Given the description of an element on the screen output the (x, y) to click on. 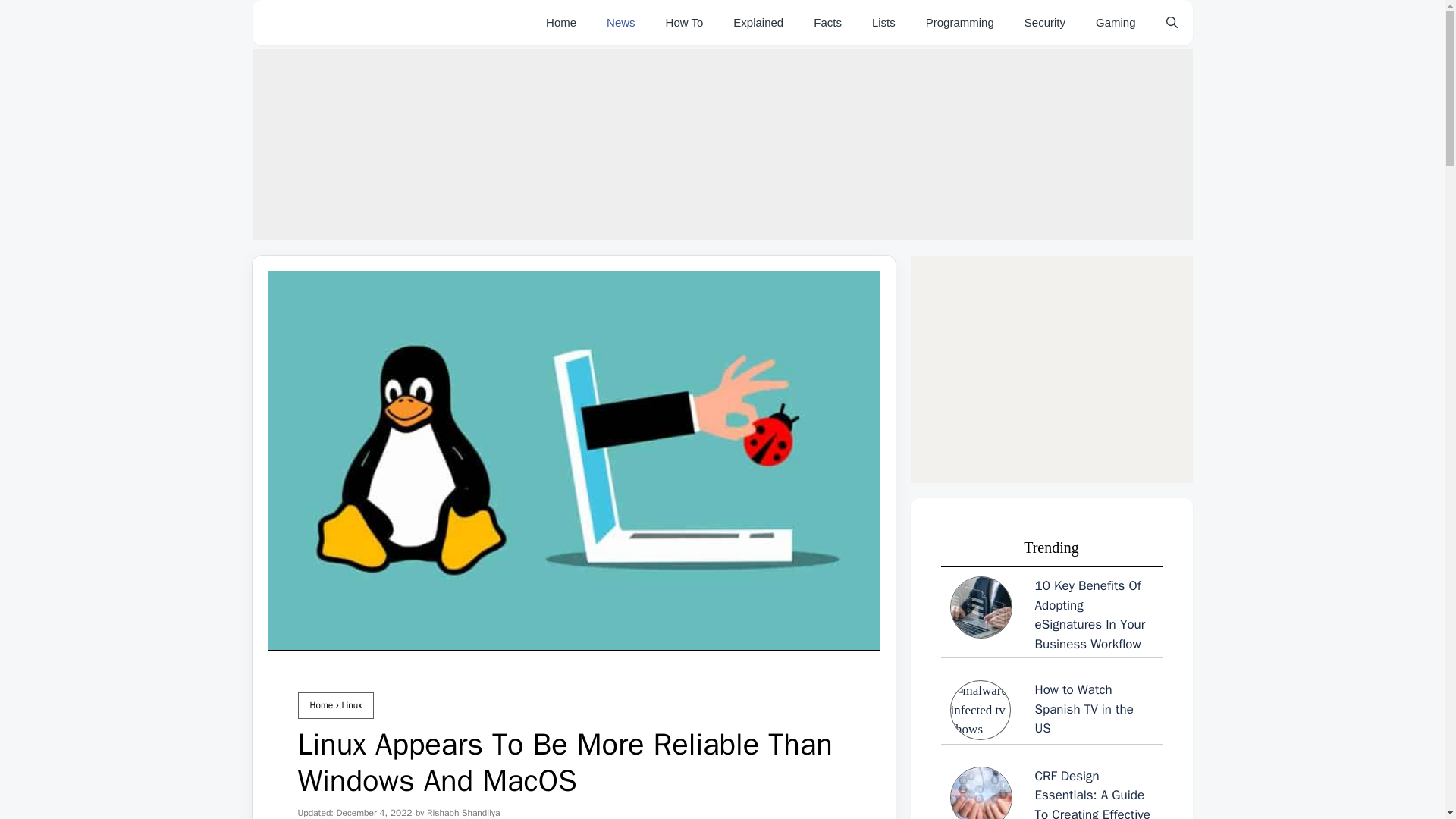
How to Watch Spanish TV in the US (1051, 710)
Rishabh Shandilya (463, 812)
Programming (960, 22)
Lists (884, 22)
How To (684, 22)
Security (1044, 22)
News (620, 22)
View all posts by Rishabh Shandilya (463, 812)
